Given the description of an element on the screen output the (x, y) to click on. 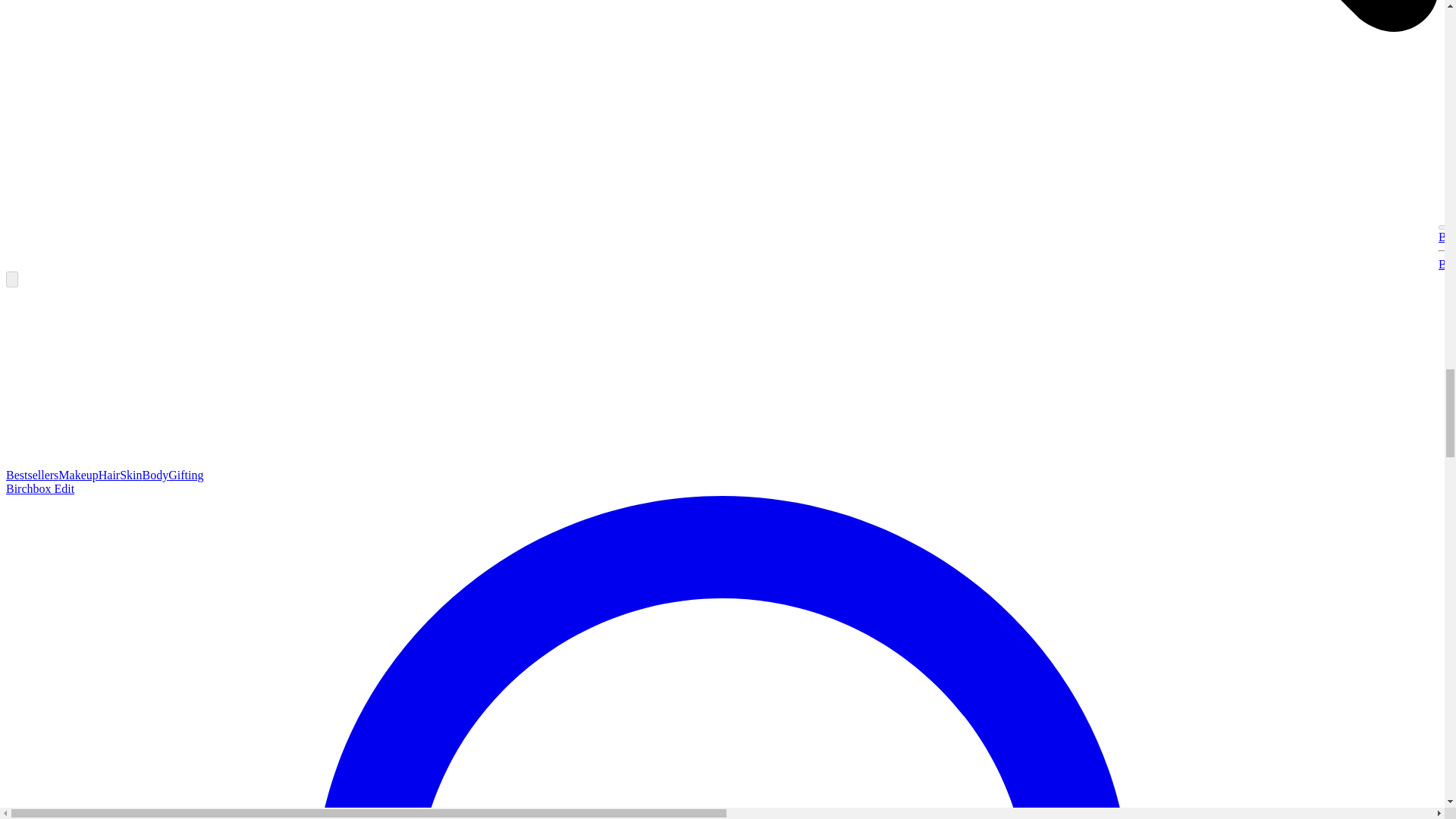
Makeup (77, 474)
Bestsellers (1447, 236)
Gifting (185, 474)
Skin (130, 474)
Hair (109, 474)
Birchbox Edit (1447, 264)
Bestsellers (31, 474)
Birchbox Edit (39, 488)
Body (155, 474)
